Given the description of an element on the screen output the (x, y) to click on. 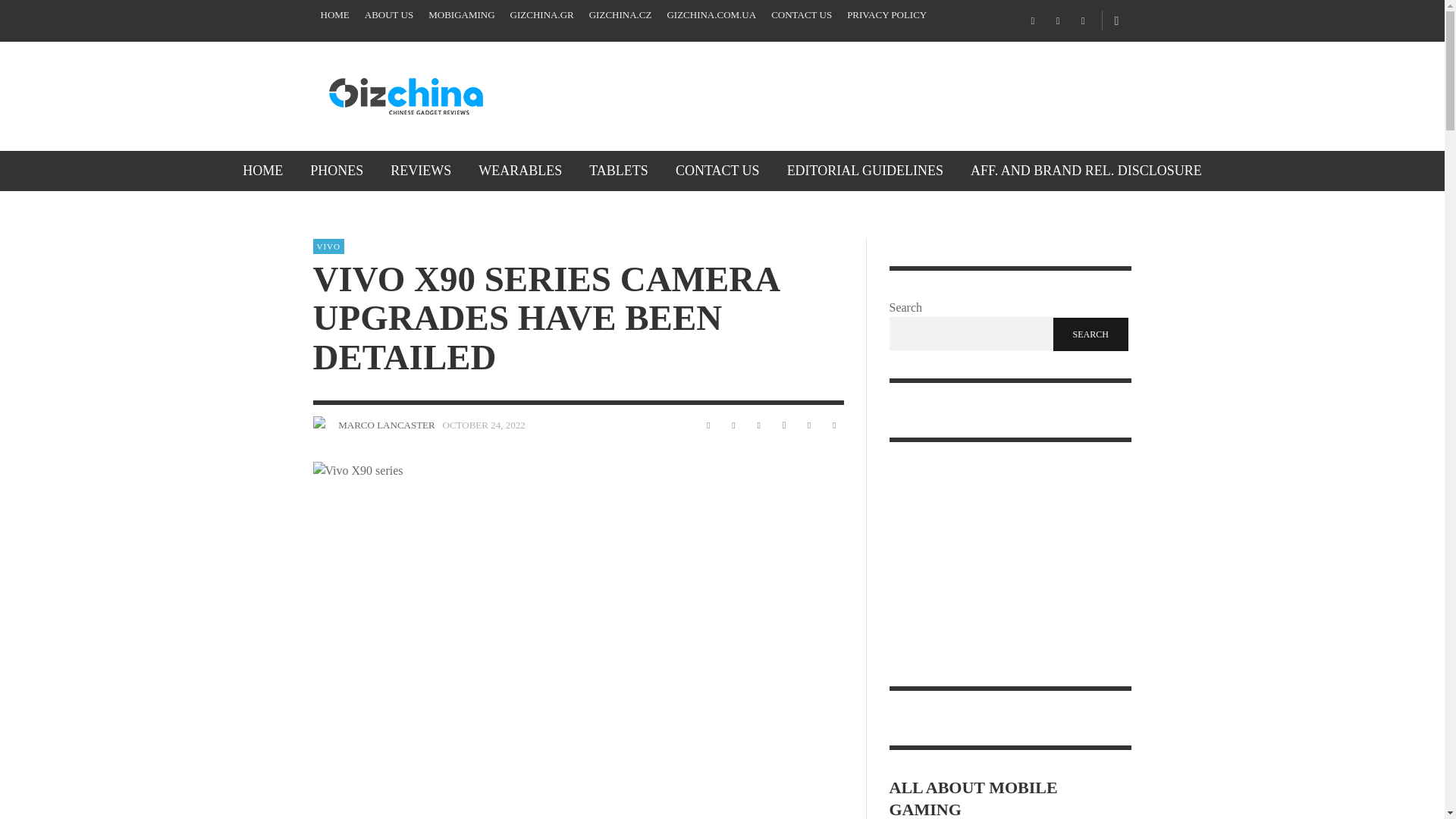
HOME (334, 15)
GIZCHINA.CZ (619, 15)
HOME (262, 170)
REVIEWS (420, 170)
GIZCHINA.GR (541, 15)
MOBIGAMING (461, 15)
PHONES (337, 170)
ABOUT US (388, 15)
PRIVACY POLICY (887, 15)
GIZCHINA.COM.UA (710, 15)
CONTACT US (801, 15)
